Given the description of an element on the screen output the (x, y) to click on. 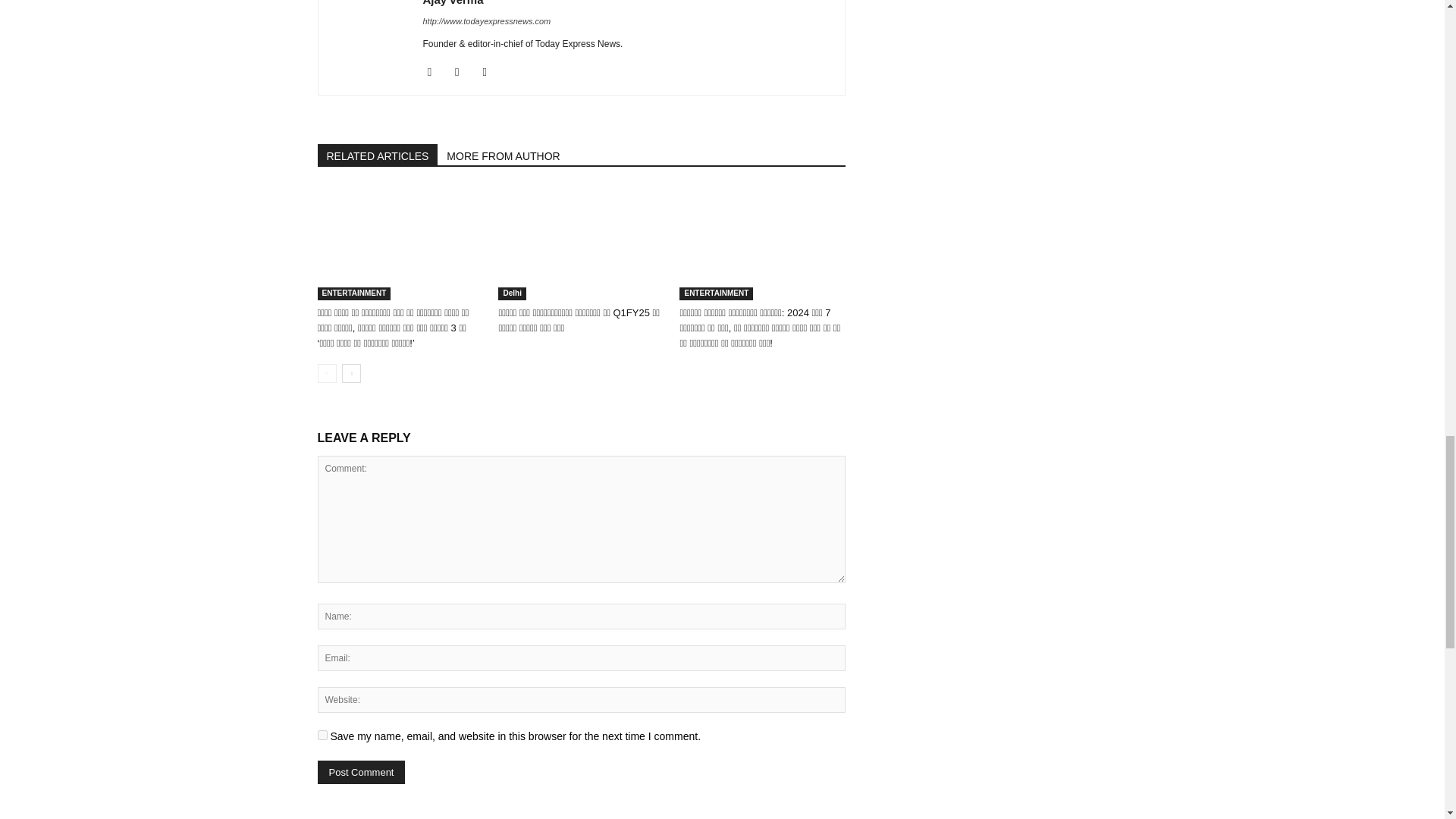
Post Comment (360, 771)
yes (321, 735)
